Given the description of an element on the screen output the (x, y) to click on. 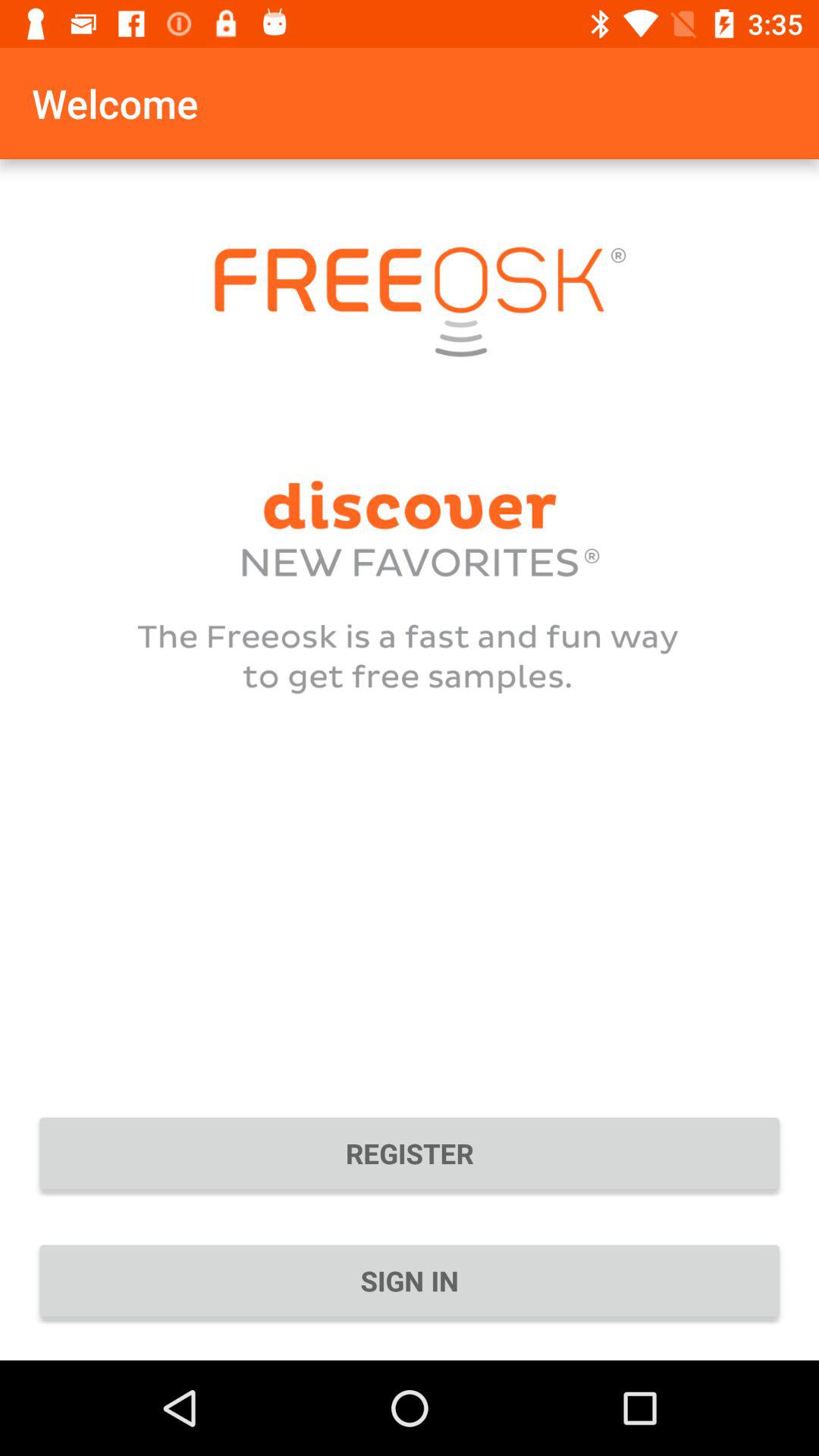
scroll to sign in icon (409, 1280)
